Given the description of an element on the screen output the (x, y) to click on. 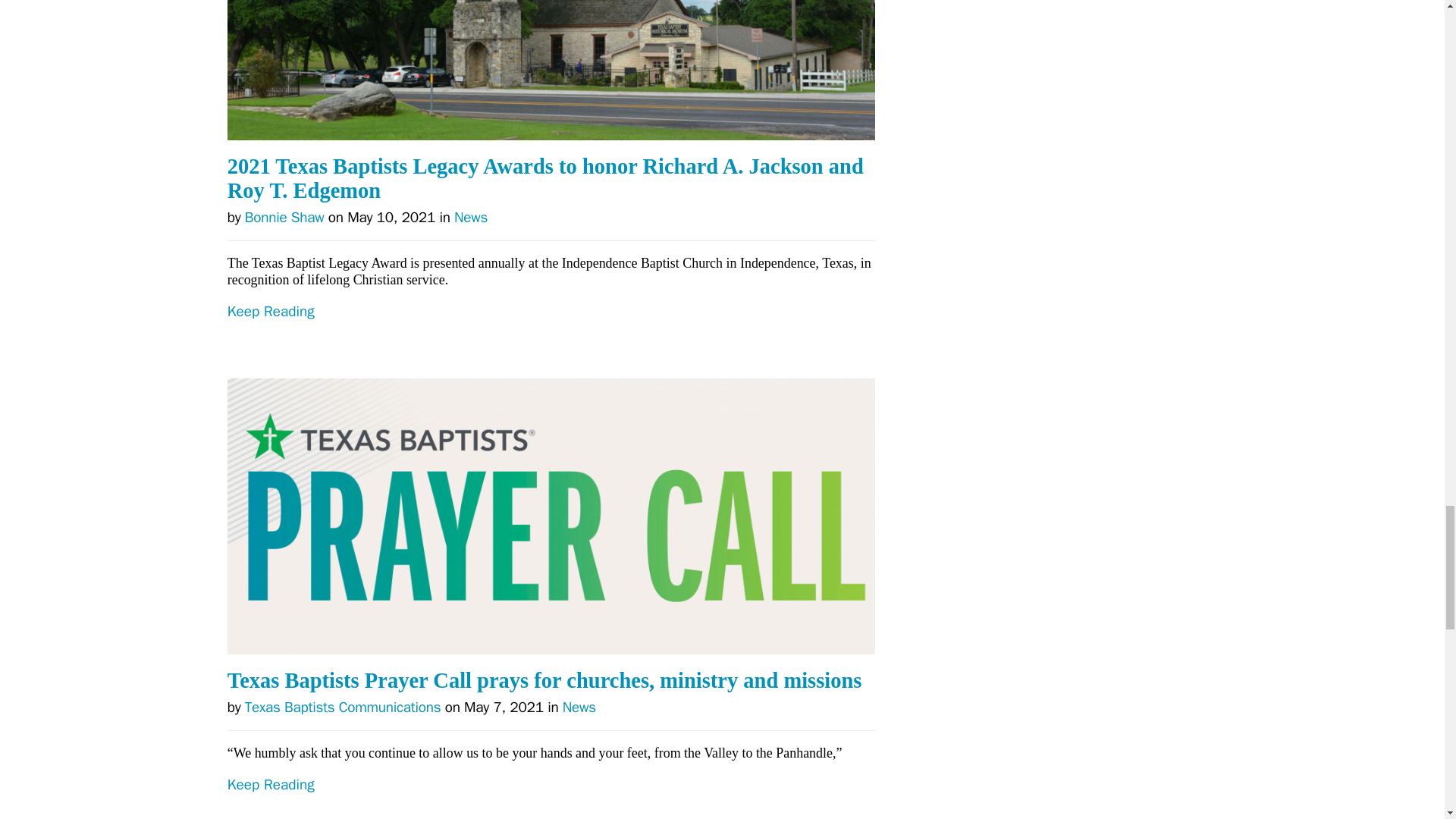
Texas Baptists Communications (342, 707)
News (578, 707)
Keep Reading (551, 797)
News (470, 217)
Keep Reading (551, 340)
Bonnie Shaw (284, 217)
